Given the description of an element on the screen output the (x, y) to click on. 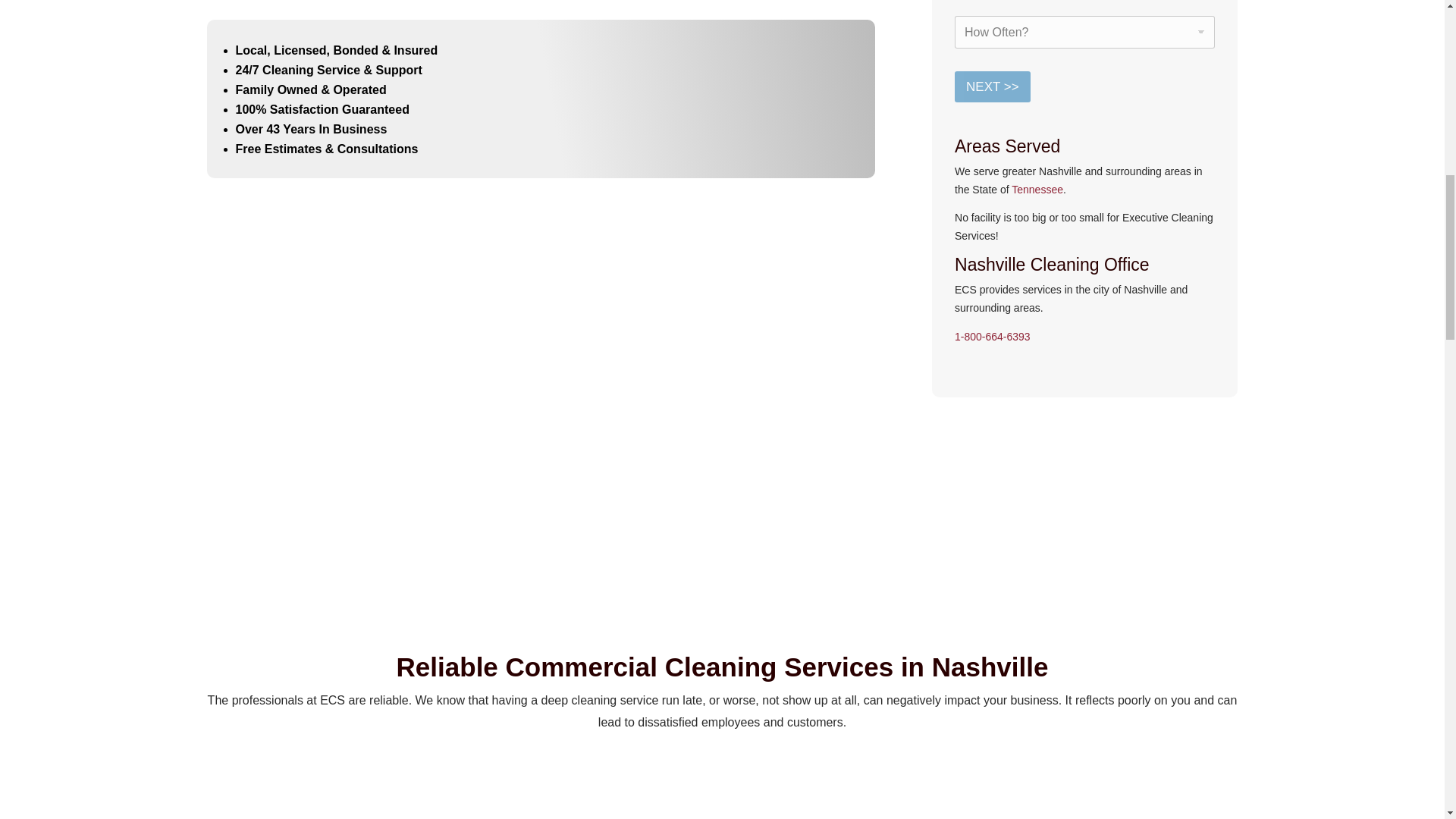
HIPAA-COMPLIANCE-1 (858, 548)
Logo-Nashville-Tennessee.jpeg (1131, 534)
Google-verified-cleaning-business (586, 544)
bbb-A-cleaning-company (314, 543)
